Given the description of an element on the screen output the (x, y) to click on. 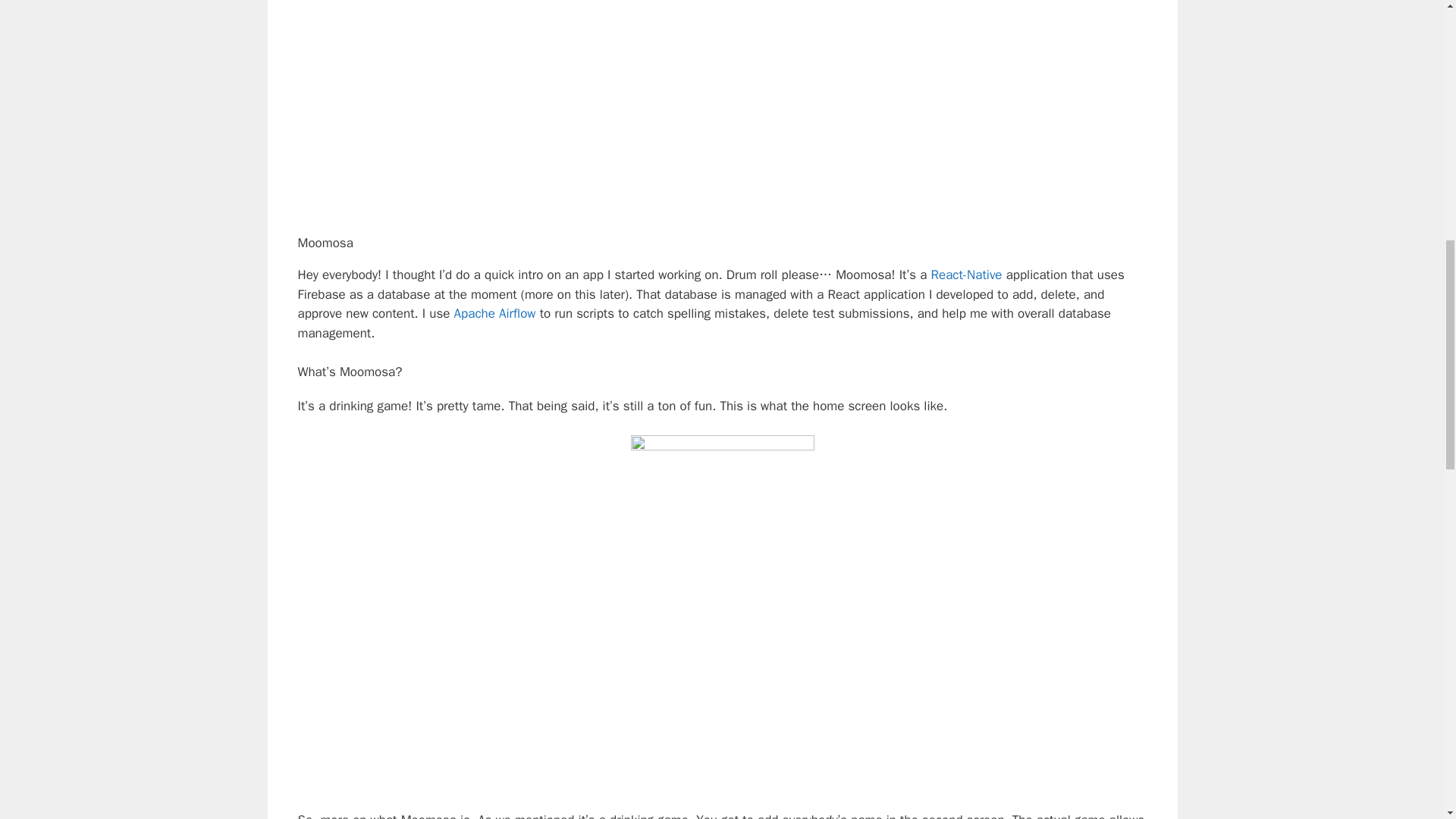
Apache Airflow (494, 313)
React-Native (967, 274)
